Given the description of an element on the screen output the (x, y) to click on. 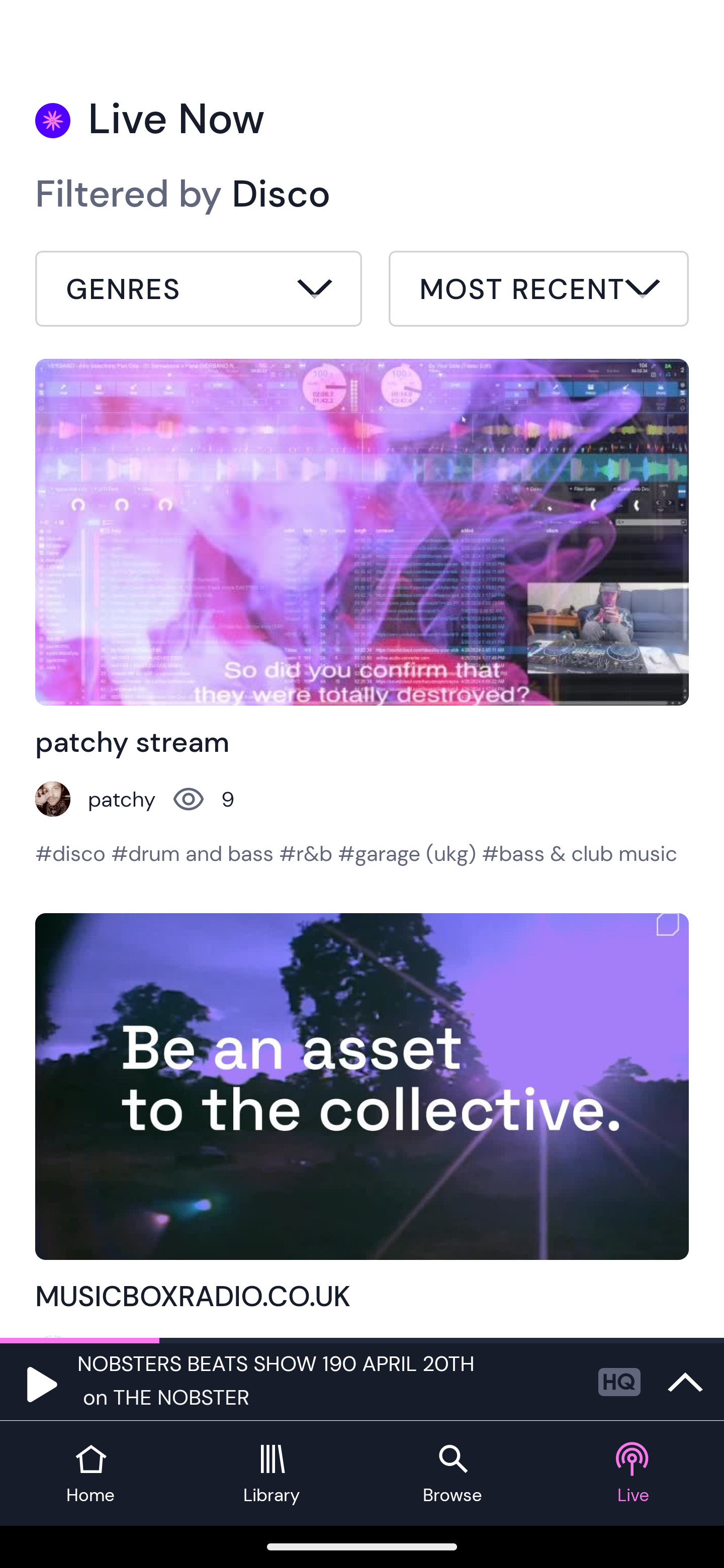
Filter by button Disco (198, 291)
Sort by button Most recent (538, 291)
Home tab Home (90, 1473)
Library tab Library (271, 1473)
Browse tab Browse (452, 1473)
Live tab Live (633, 1473)
